Given the description of an element on the screen output the (x, y) to click on. 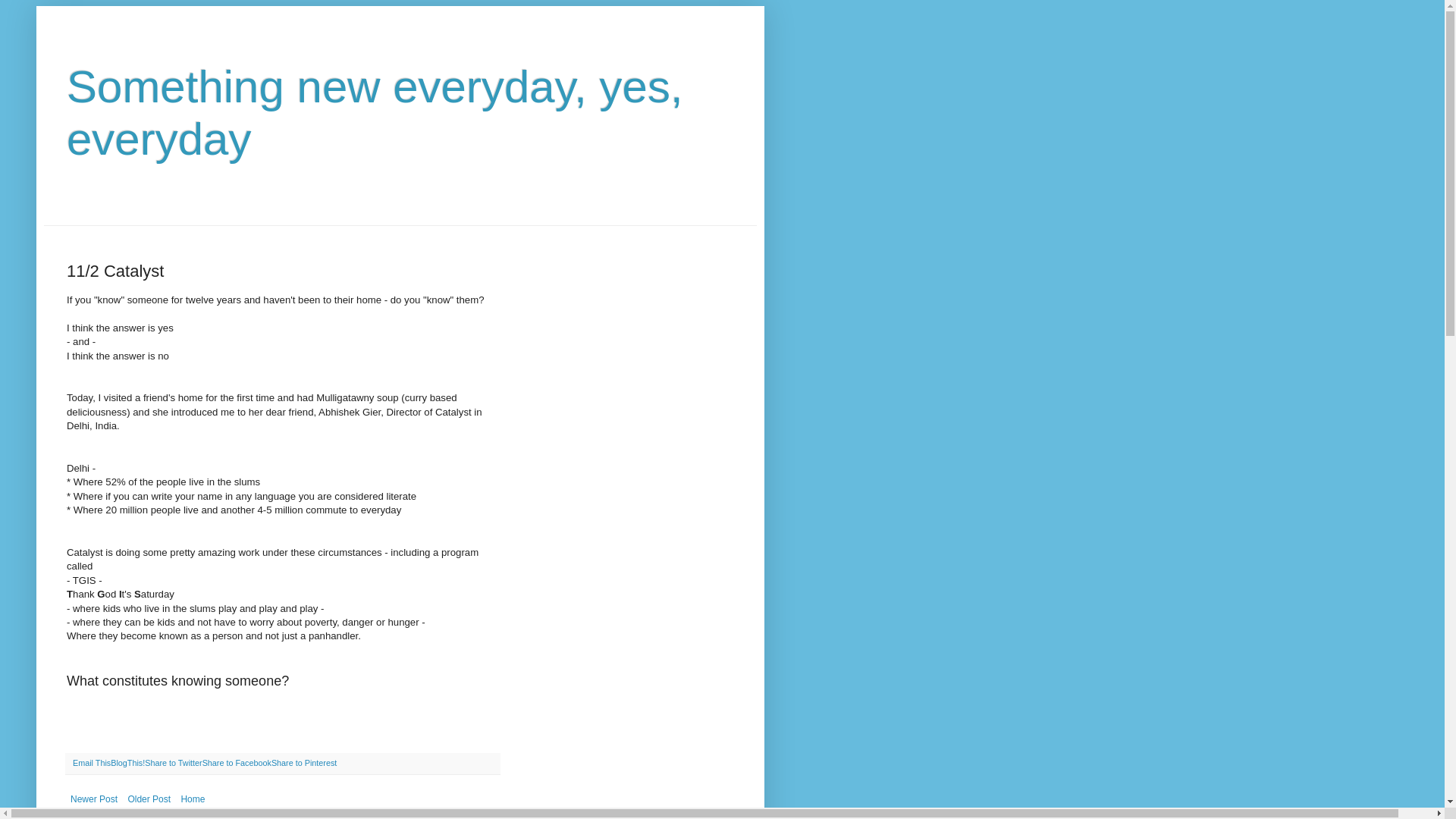
Older Post (148, 799)
Email This (91, 762)
Email This (91, 762)
Share to Pinterest (303, 762)
BlogThis! (127, 762)
Newer Post (93, 799)
Older Post (148, 799)
Share to Facebook (236, 762)
Share to Twitter (173, 762)
Share to Twitter (173, 762)
Send Me a Postcard (116, 816)
BlogThis! (127, 762)
Share to Pinterest (303, 762)
Newer Post (93, 799)
Something new everyday, yes, everyday (374, 112)
